Given the description of an element on the screen output the (x, y) to click on. 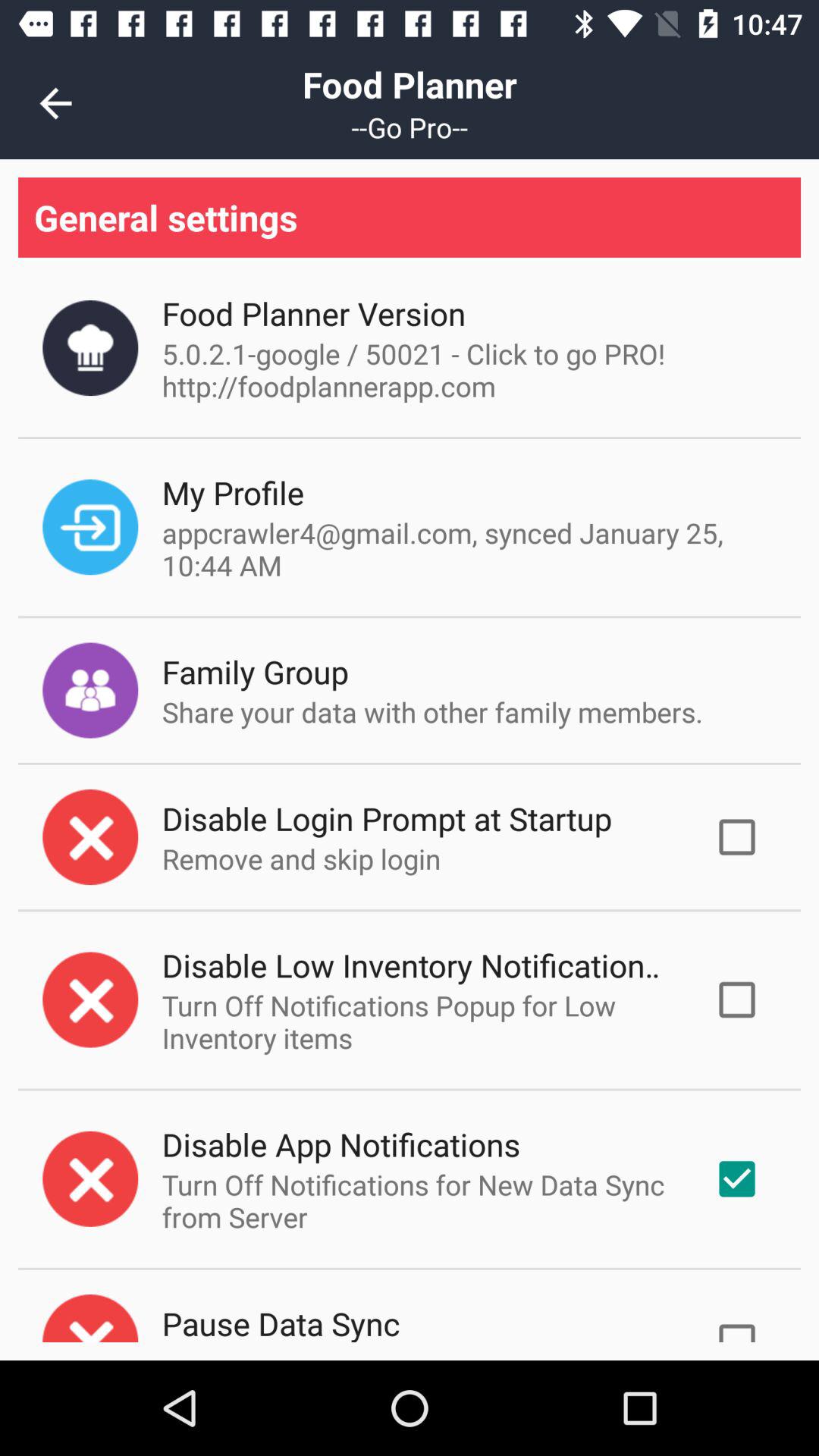
choose icon below the share your data item (386, 818)
